Given the description of an element on the screen output the (x, y) to click on. 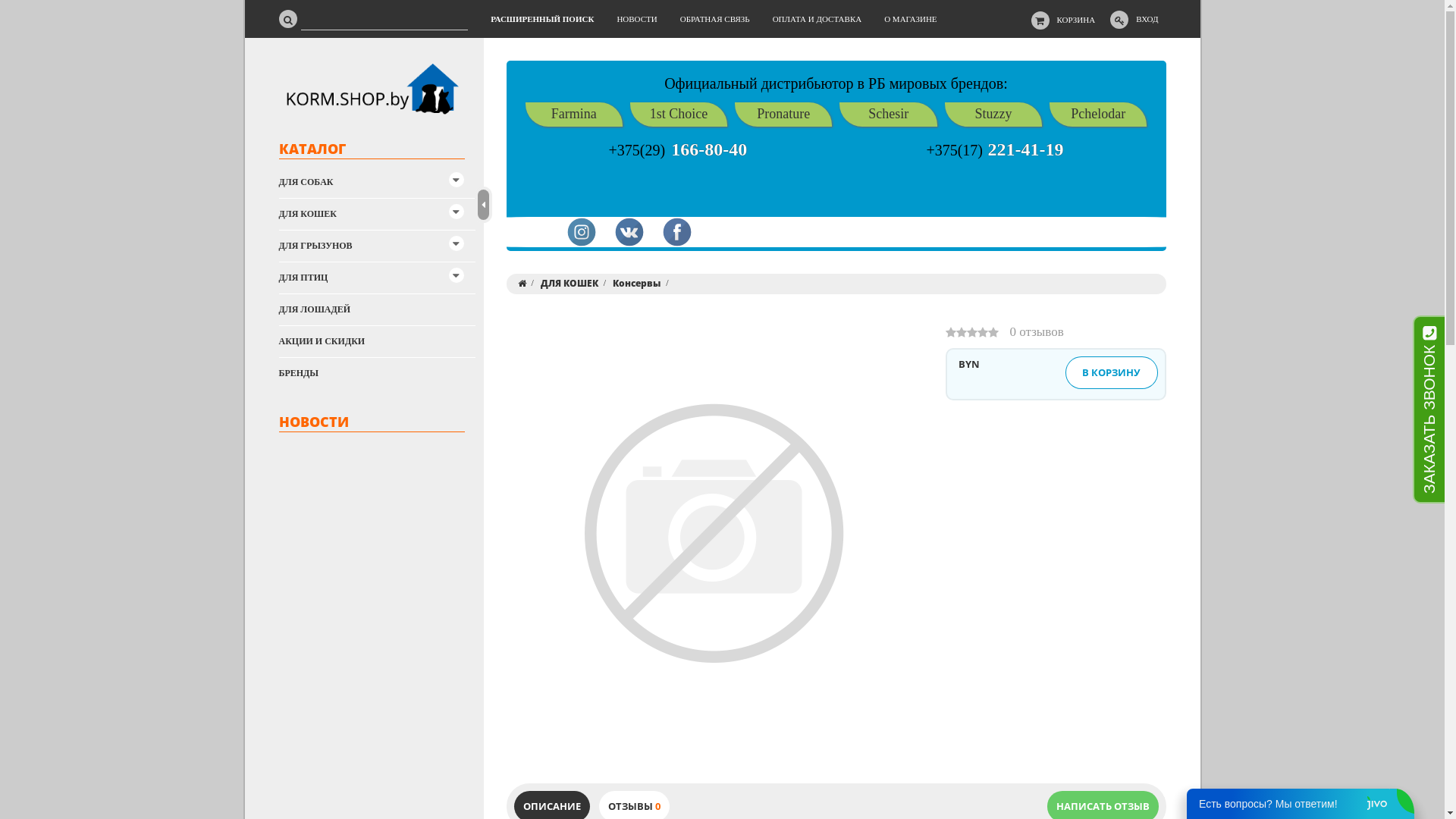
+375(29)  166-80-40 Element type: text (677, 151)
1st Choice Element type: text (678, 114)
Schesir Element type: text (888, 114)
Pchelodar Element type: text (1097, 114)
Pronature Element type: text (782, 114)
Stuzzy Element type: text (992, 114)
Farmina Element type: text (573, 114)
+375(17)  221-41-19 Element type: text (994, 151)
